Given the description of an element on the screen output the (x, y) to click on. 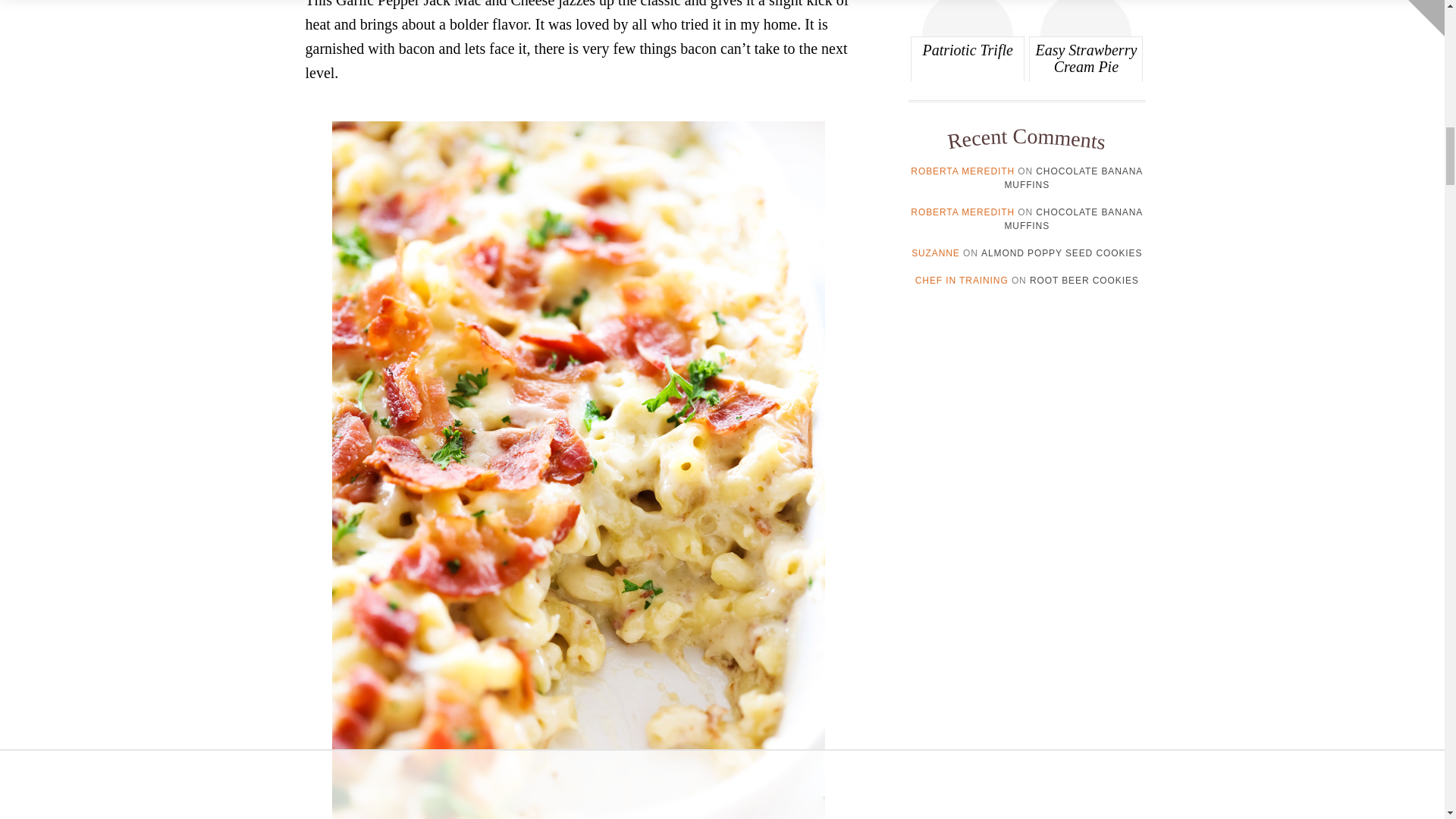
Recent Comments (1026, 135)
